Given the description of an element on the screen output the (x, y) to click on. 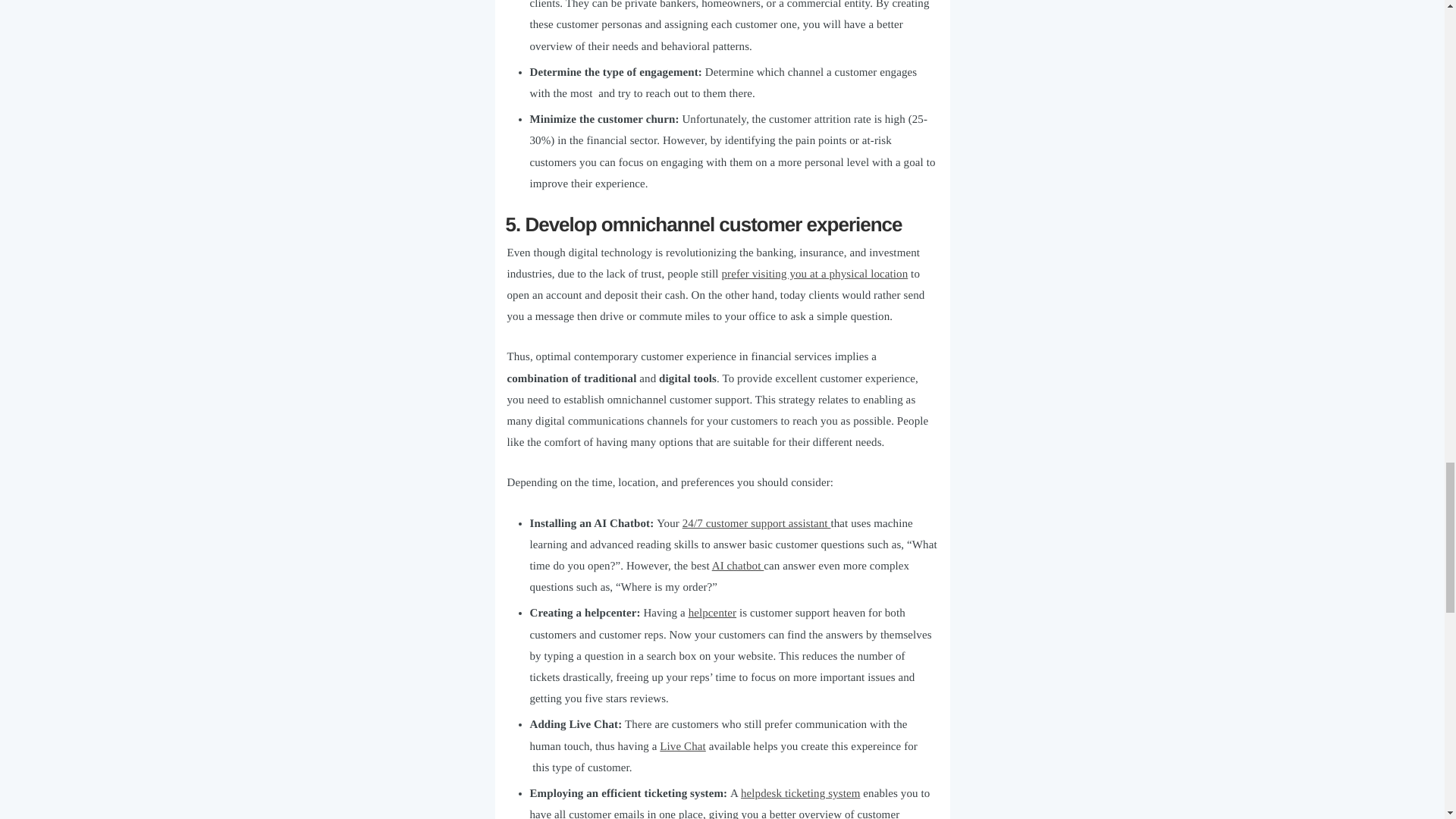
helpdesk ticketing system (800, 793)
Live Chat (681, 746)
AI chatbot (737, 566)
prefer visiting you at a physical location (813, 274)
helpcenter (712, 613)
